Given the description of an element on the screen output the (x, y) to click on. 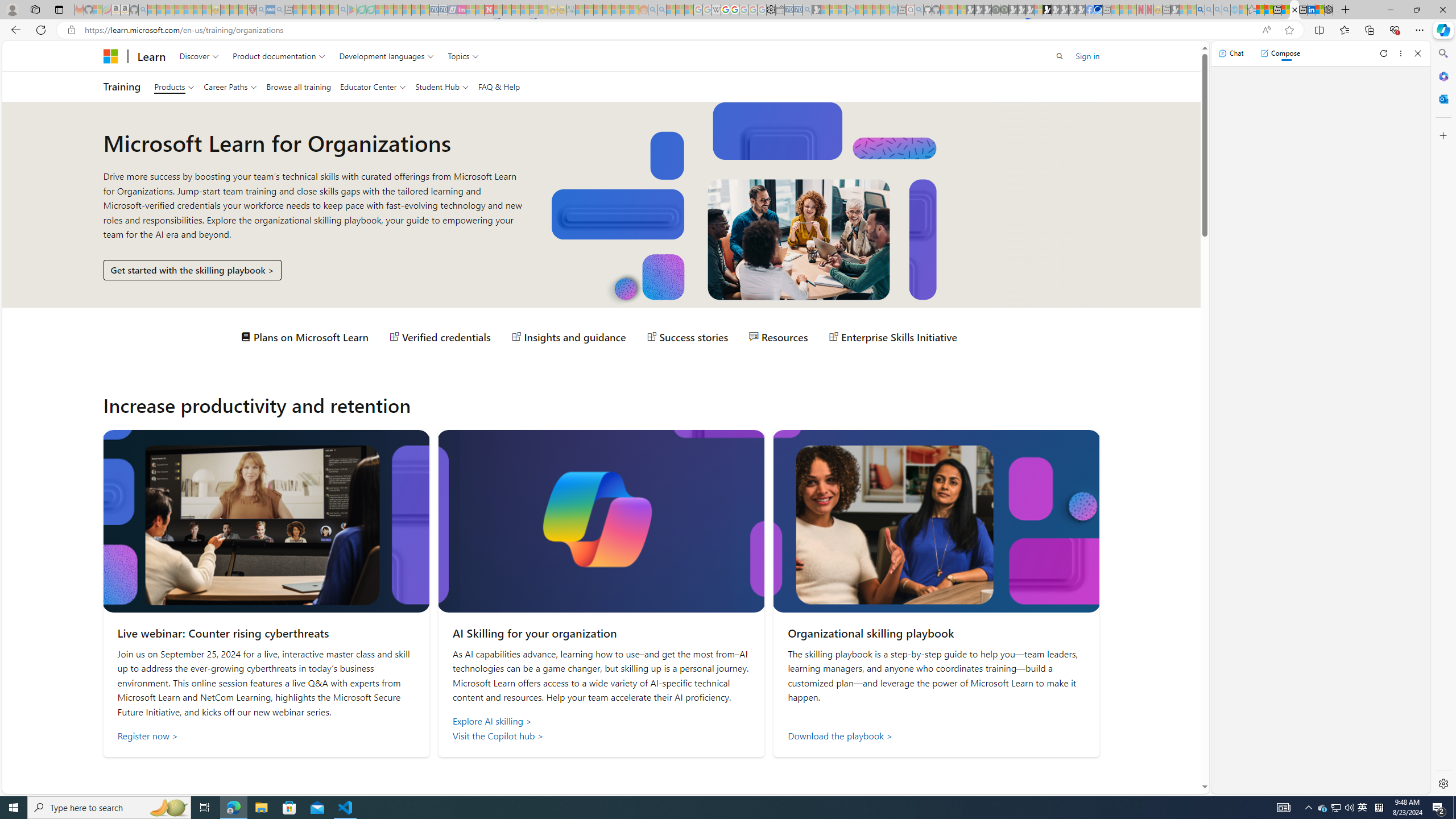
Close Customize pane (1442, 135)
Expert Portfolios - Sleeping (606, 9)
Register now > (265, 735)
Browse all training (298, 86)
Microsoft (110, 55)
Open search (1059, 55)
Home | Sky Blue Bikes - Sky Blue Bikes - Sleeping (892, 9)
Insights and guidance (568, 336)
